Given the description of an element on the screen output the (x, y) to click on. 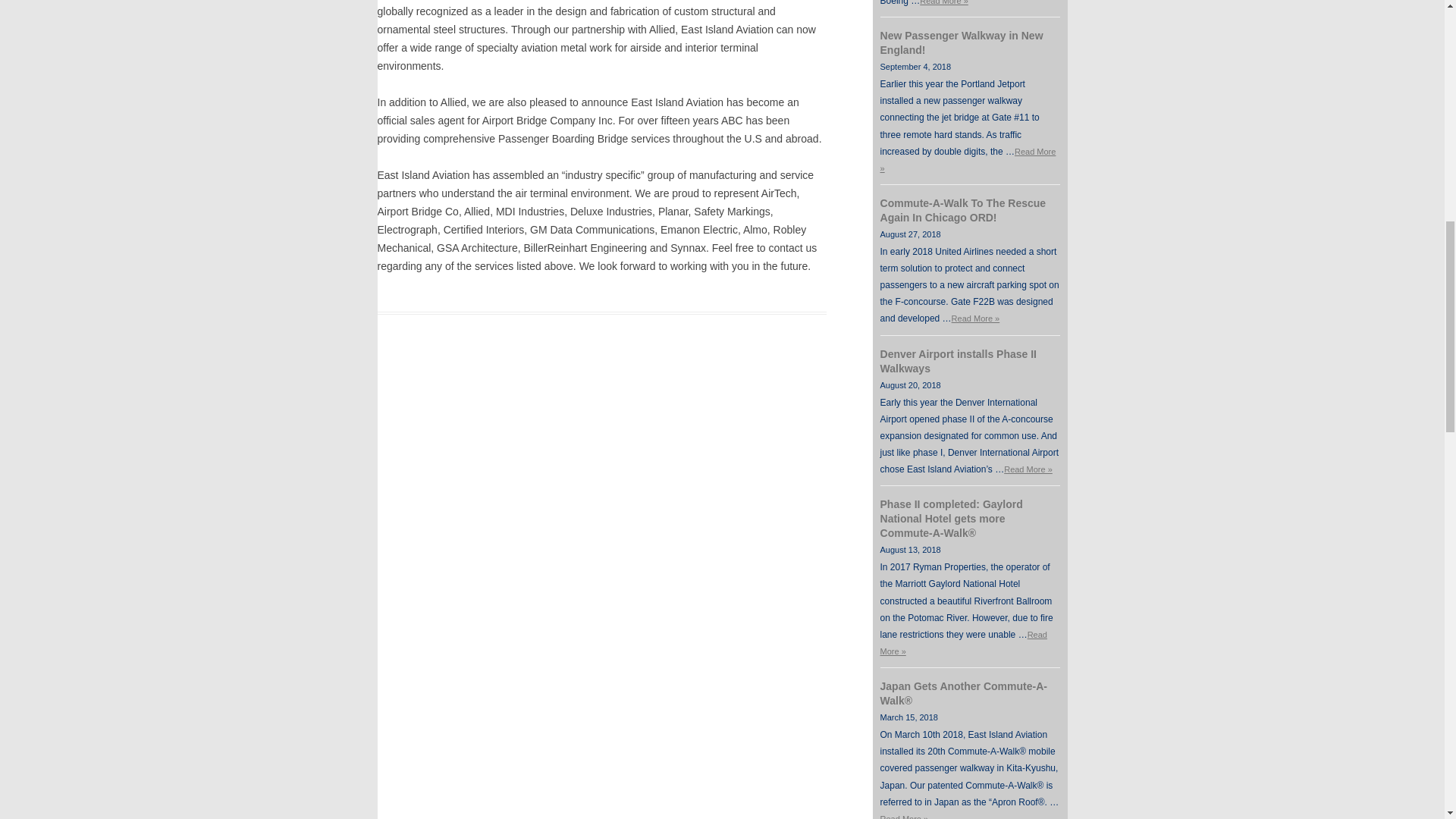
New Passenger Walkway in New England! (961, 42)
Commute-A-Walk To The Rescue Again In Chicago ORD! (963, 210)
Denver Airport installs Phase II Walkways (958, 361)
